Given the description of an element on the screen output the (x, y) to click on. 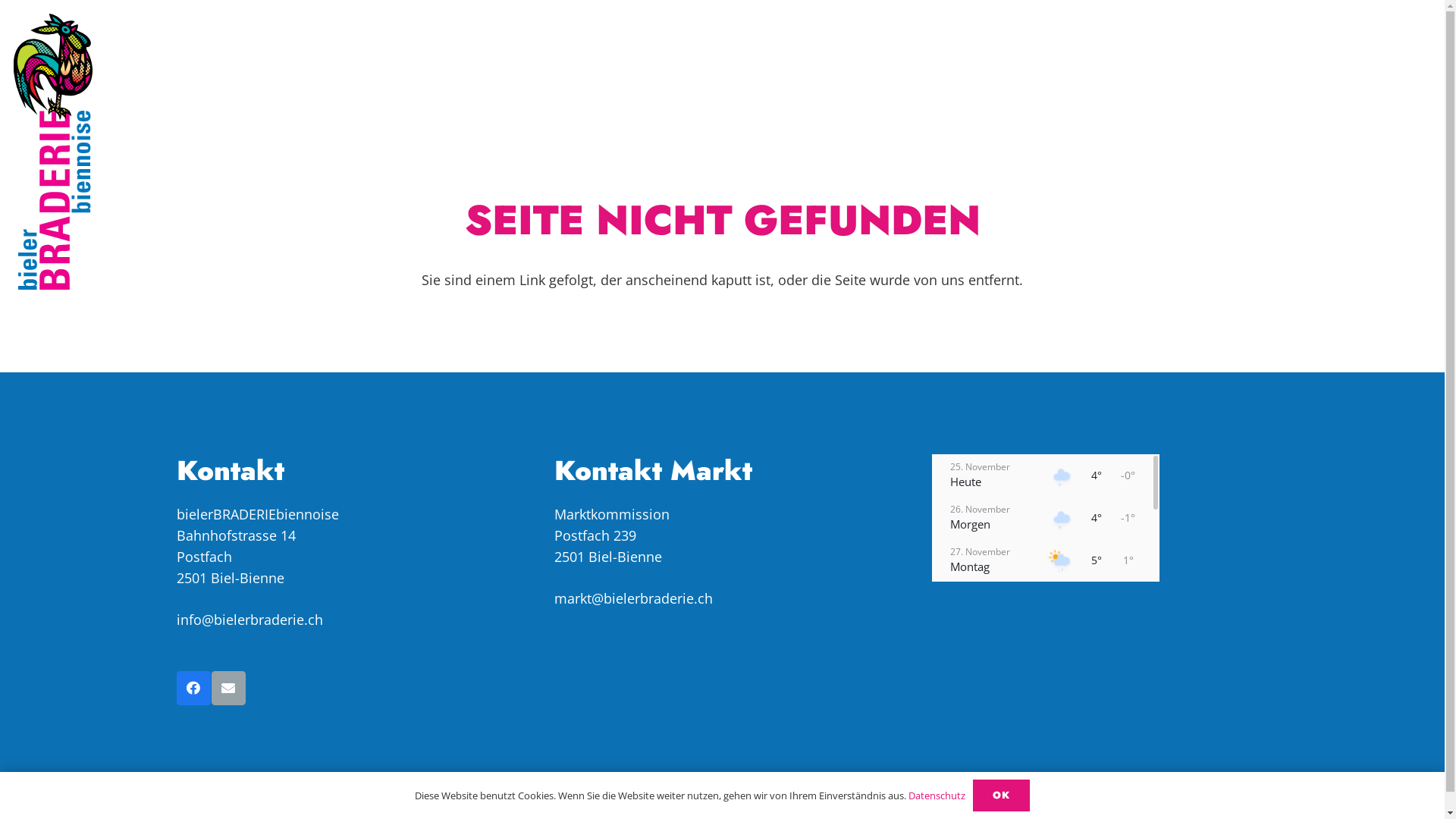
E-Mail Element type: hover (227, 688)
FR Element type: text (1316, 56)
DE Element type: text (1357, 56)
info@bielerbraderie.ch Element type: text (248, 619)
Facebook Element type: hover (192, 688)
Datenschutz Element type: text (936, 795)
OK Element type: text (1001, 795)
markt@bielerbraderie.ch Element type: text (632, 598)
